Given the description of an element on the screen output the (x, y) to click on. 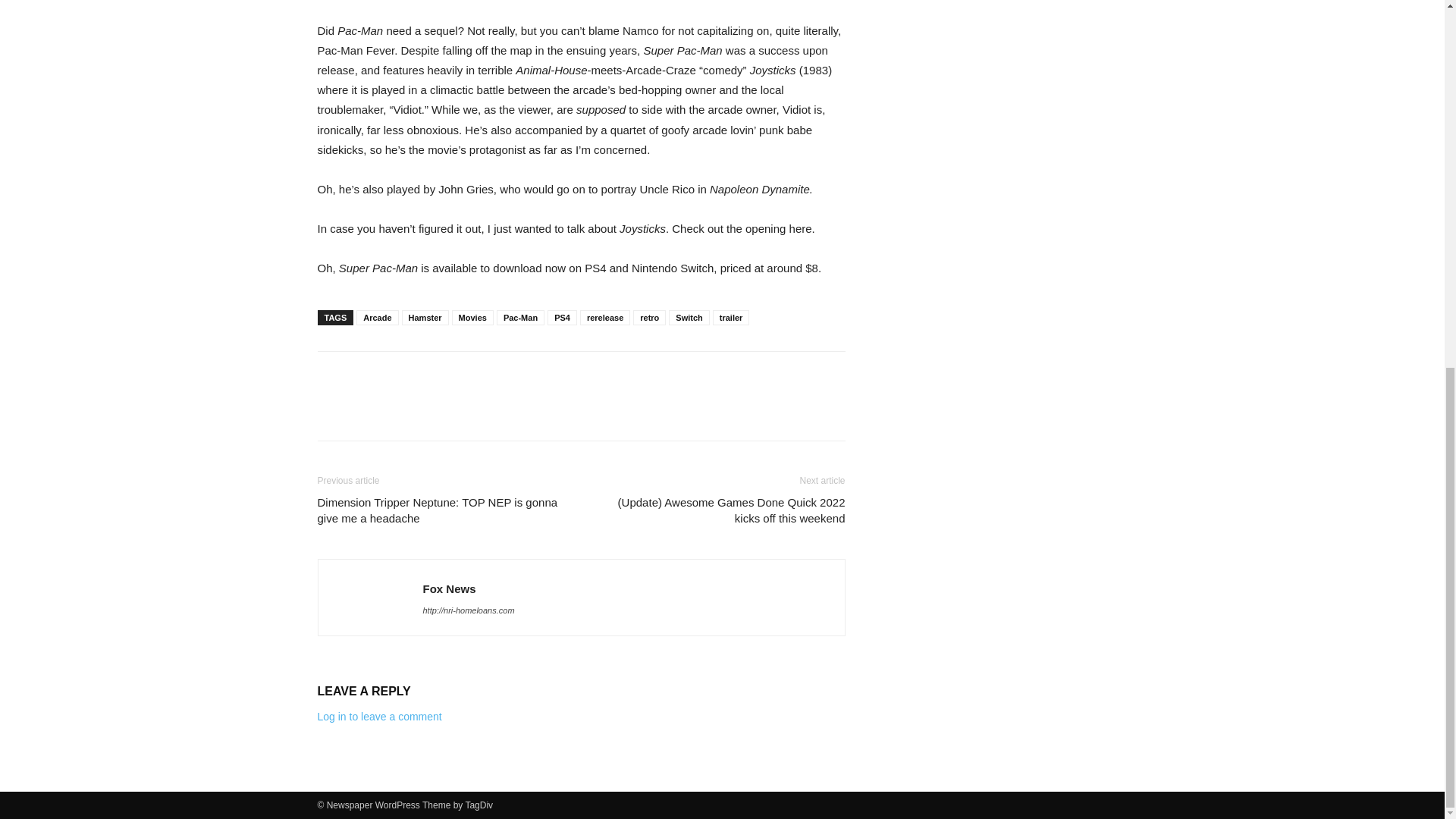
Switch (688, 317)
trailer (731, 317)
rerelease (604, 317)
Hamster (424, 317)
retro (649, 317)
Arcade (376, 317)
Movies (472, 317)
Pac-Man (520, 317)
PS4 (561, 317)
bottomFacebookLike (430, 375)
